Given the description of an element on the screen output the (x, y) to click on. 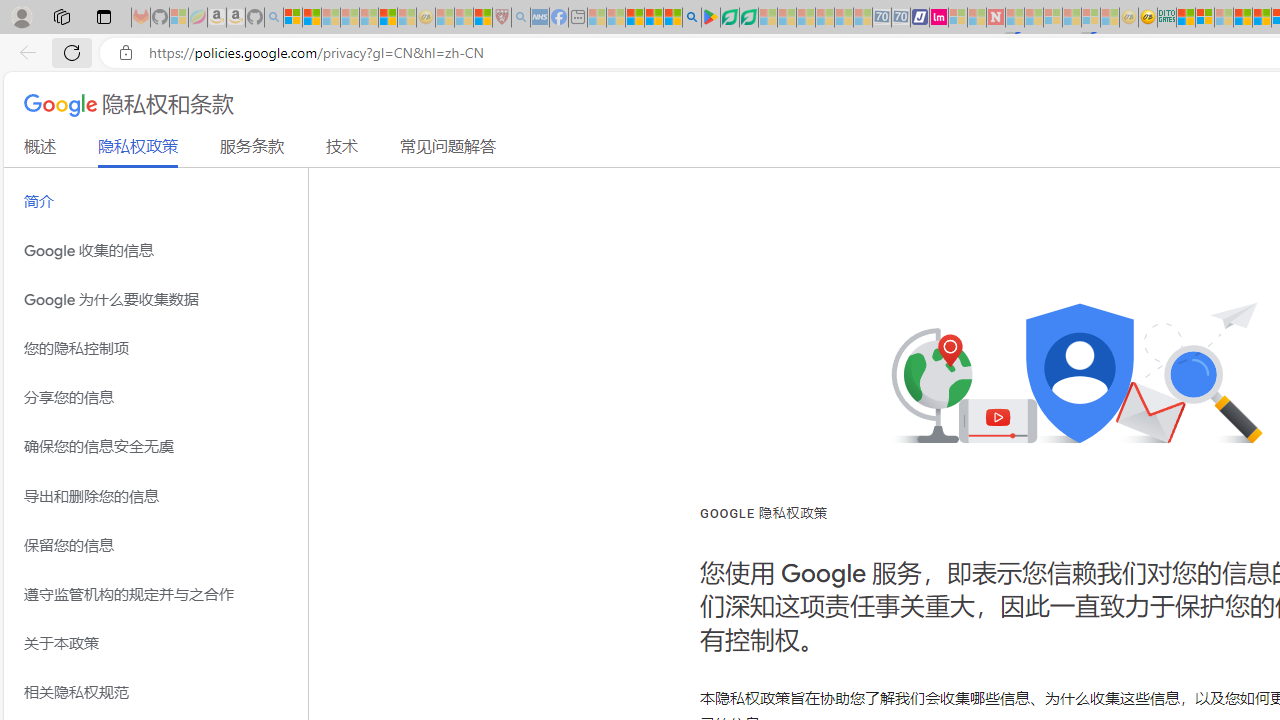
Terms of Use Agreement (729, 17)
